Given the description of an element on the screen output the (x, y) to click on. 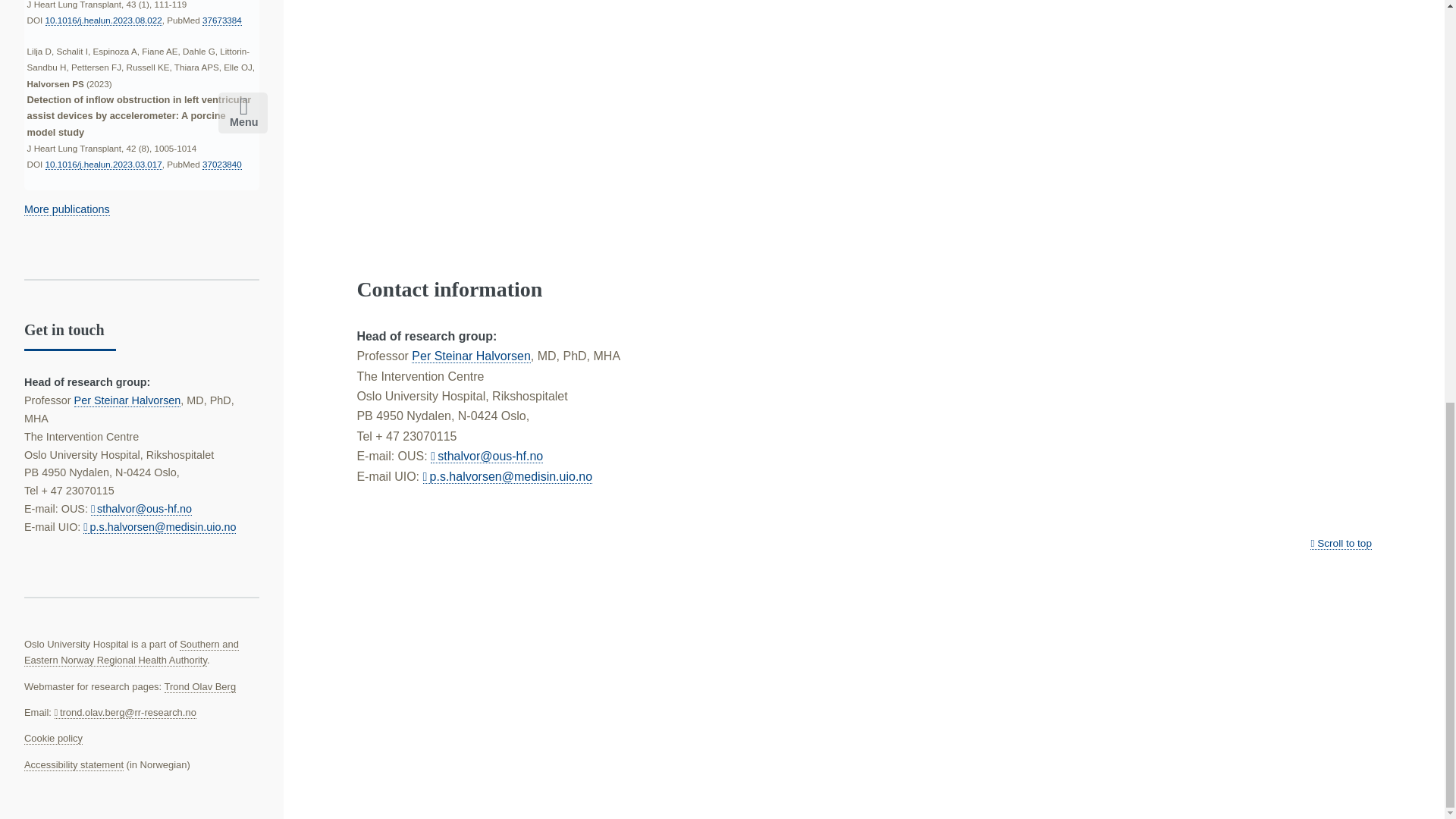
More publications (67, 209)
Per Steinar Halvorsen (127, 400)
37673384 (221, 20)
37023840 (221, 163)
Southern and Eastern Norway Regional Health Authority (131, 652)
Scroll to top (1340, 543)
Trond Olav Berg (199, 686)
Per Steinar Halvorsen (471, 356)
